Given the description of an element on the screen output the (x, y) to click on. 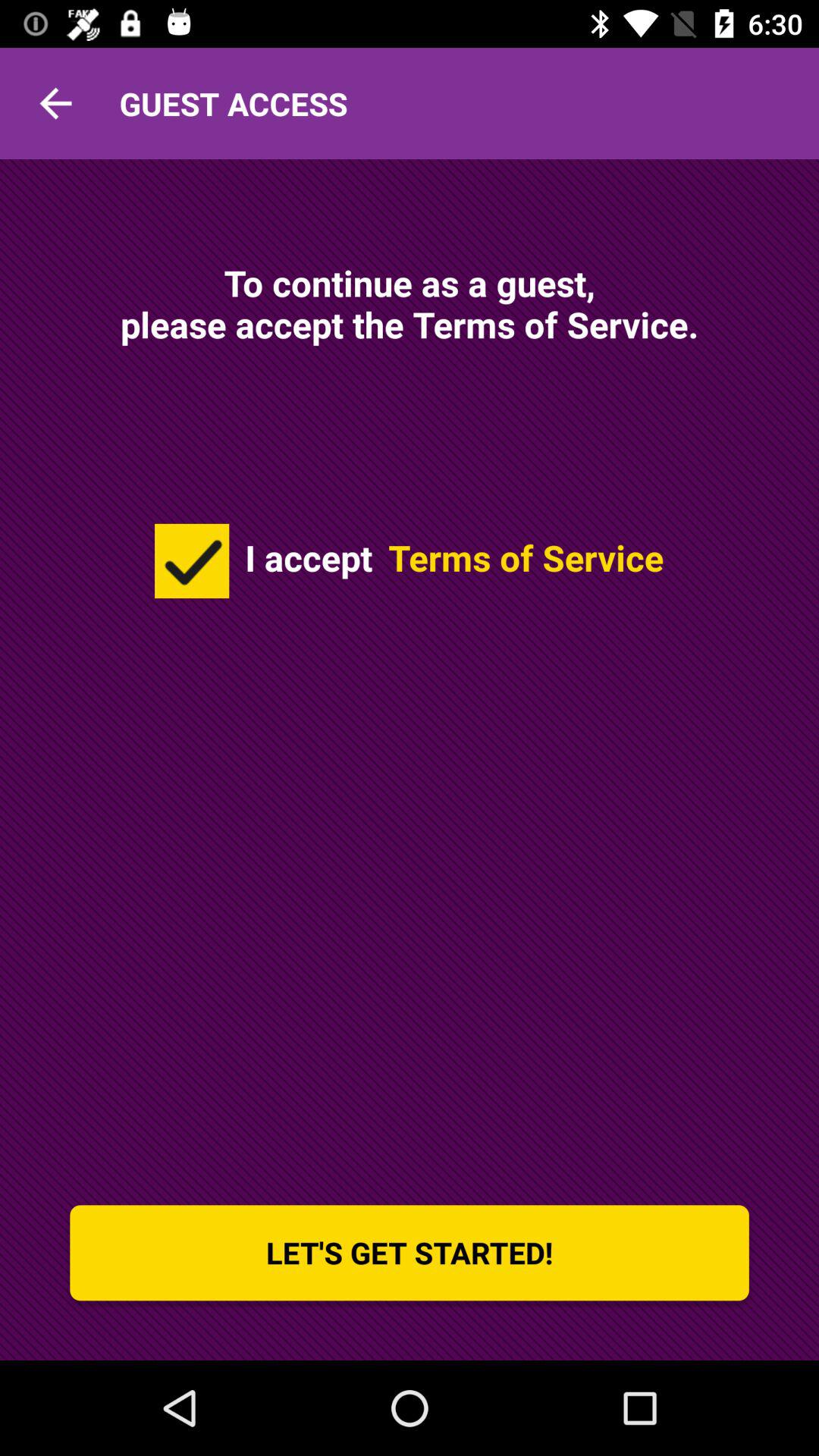
select the icon above the let s get icon (191, 560)
